Given the description of an element on the screen output the (x, y) to click on. 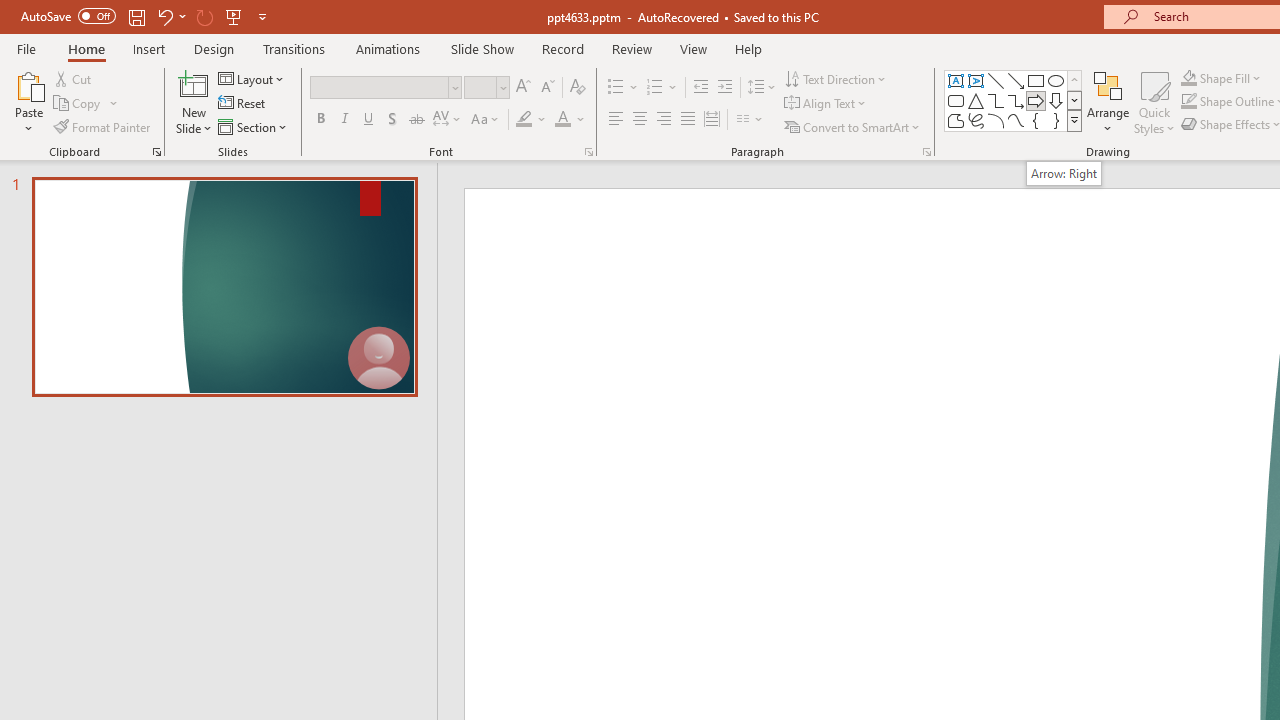
Curve (1016, 120)
Bold (320, 119)
Arrow: Down (1055, 100)
Rectangle: Rounded Corners (955, 100)
Arrow: Right (1035, 100)
Italic (344, 119)
Paragraph... (926, 151)
Layout (252, 78)
